Given the description of an element on the screen output the (x, y) to click on. 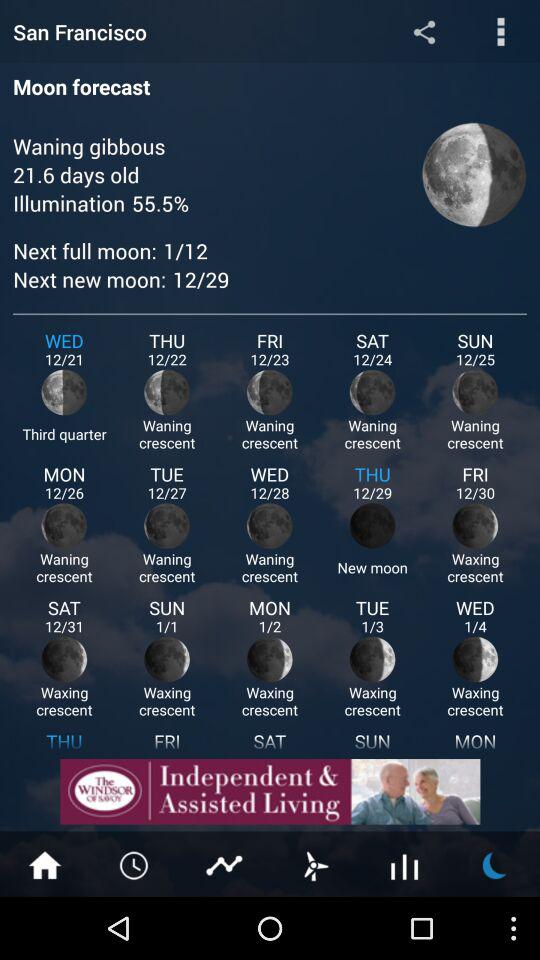
open advertisement (270, 791)
